Given the description of an element on the screen output the (x, y) to click on. 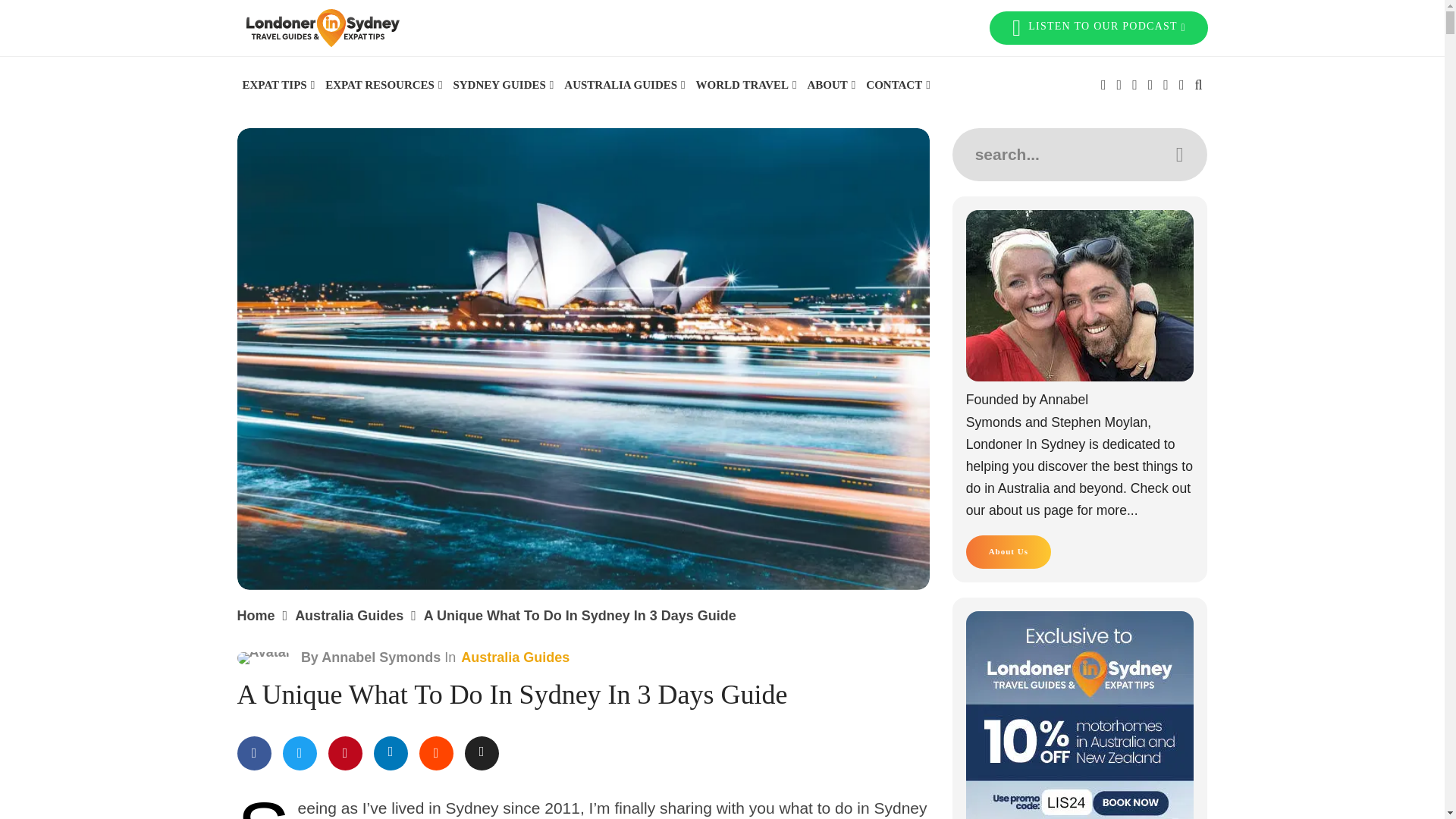
LISTEN TO OUR PODCAST (1098, 28)
EXPAT RESOURCES (383, 84)
EXPAT TIPS (277, 84)
SYDNEY GUIDES (502, 84)
